Given the description of an element on the screen output the (x, y) to click on. 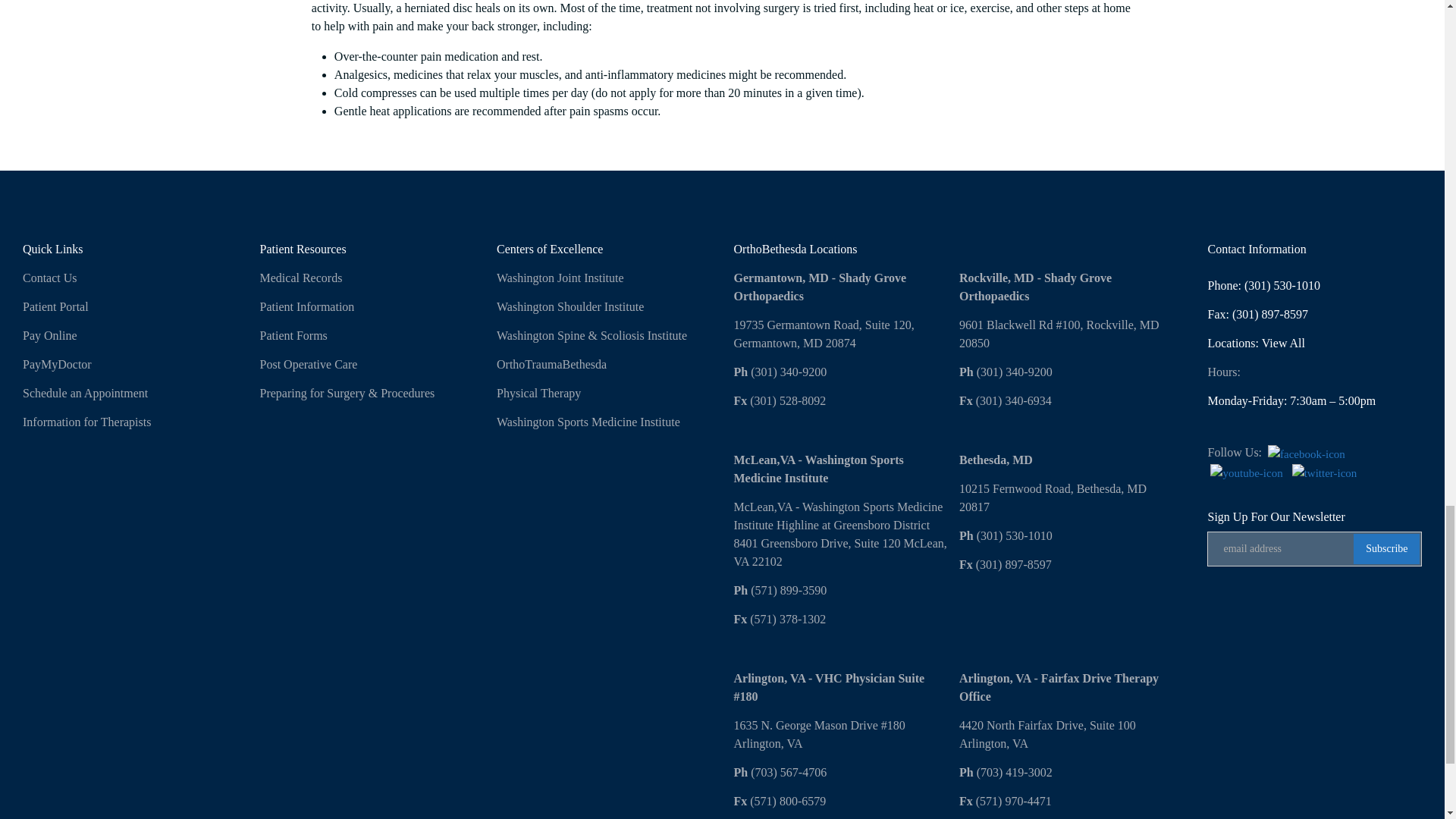
Subscribe (1386, 548)
